Given the description of an element on the screen output the (x, y) to click on. 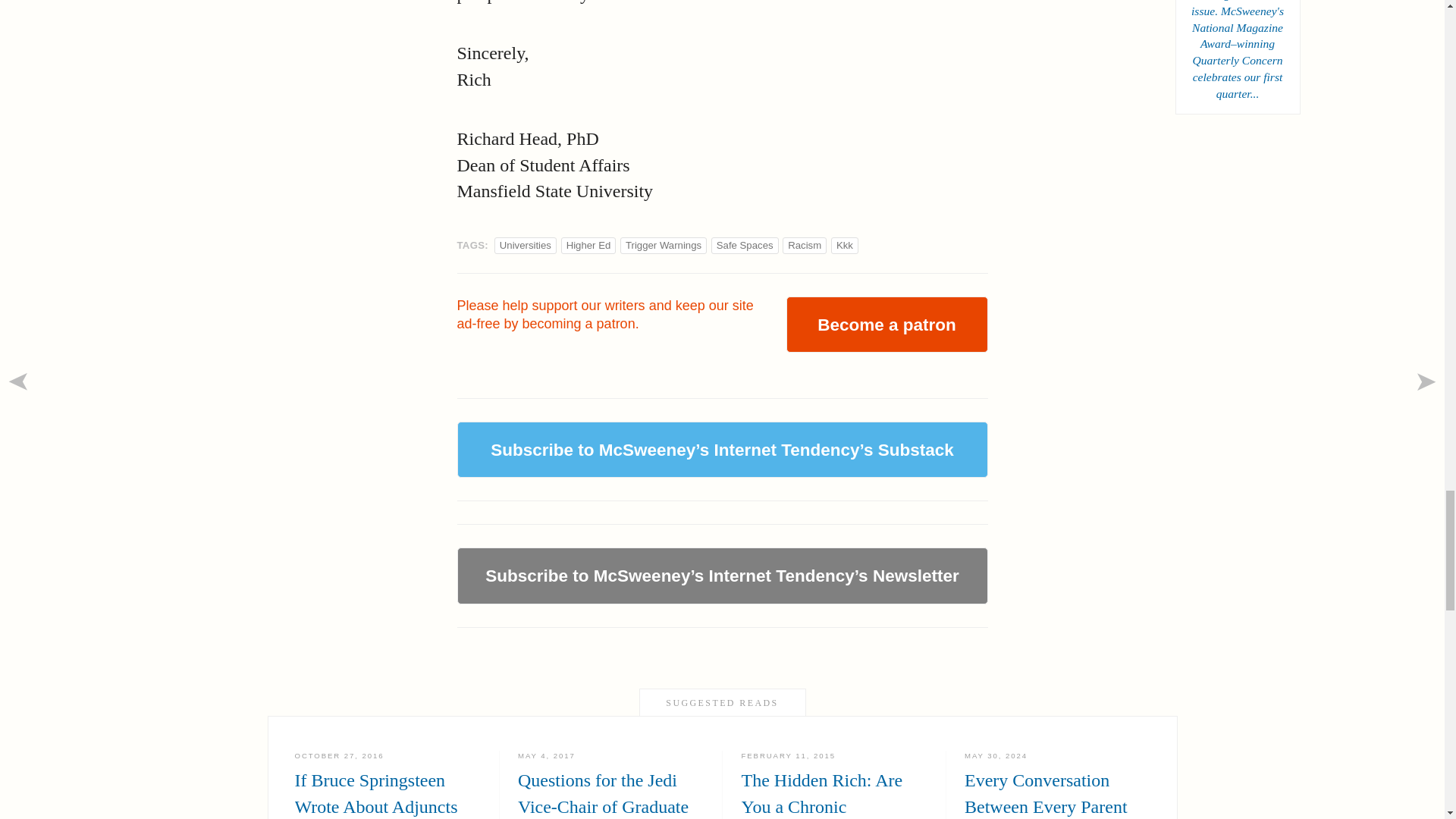
Safe Spaces (744, 244)
Become a patron (886, 324)
Universities (387, 785)
Racism (525, 244)
Kkk (804, 244)
Higher Ed (844, 244)
Trigger Warnings (588, 244)
